Given the description of an element on the screen output the (x, y) to click on. 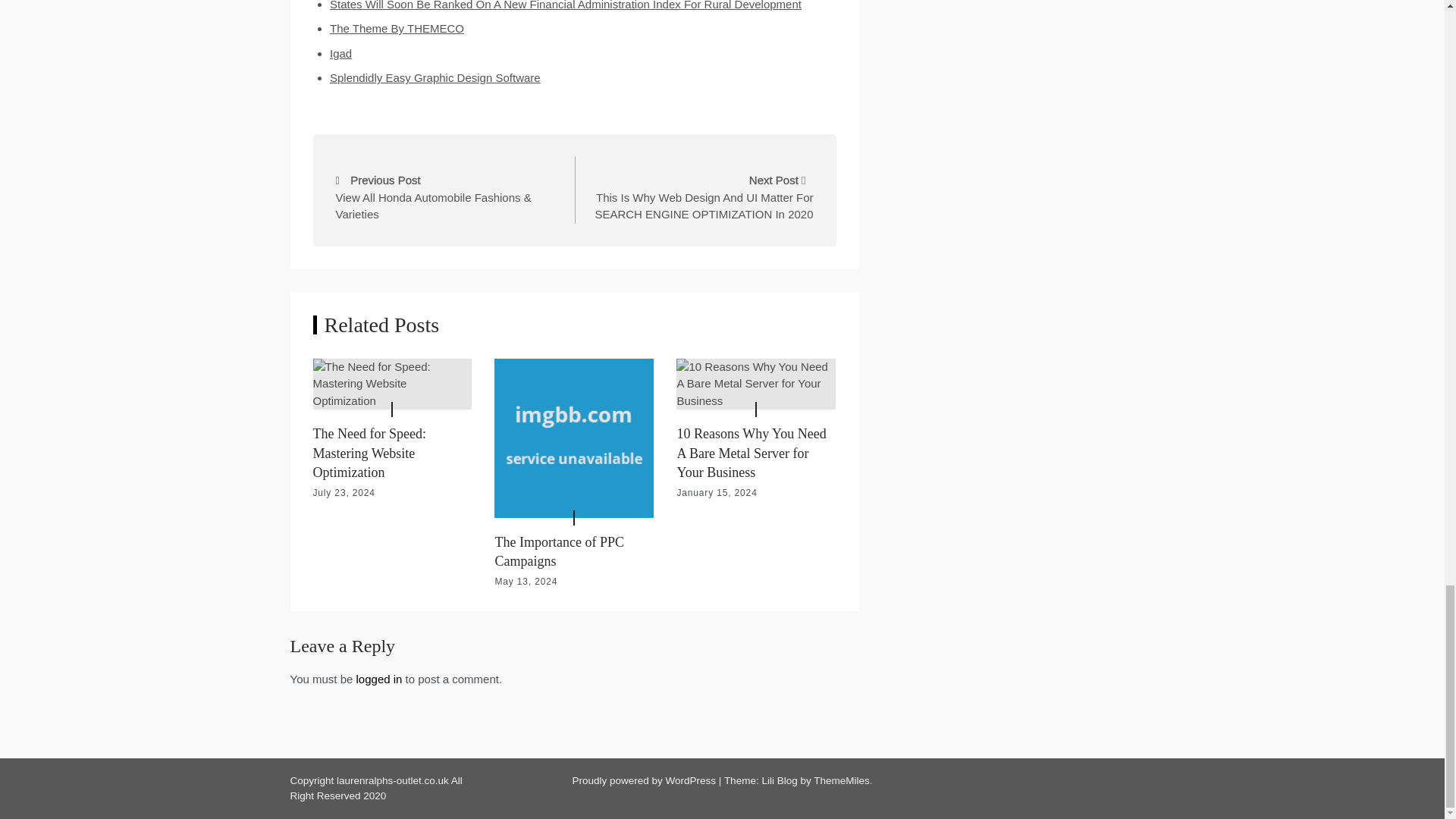
The Need for Speed: Mastering Website Optimization (392, 384)
The Importance of PPC Campaigns (574, 437)
